Given the description of an element on the screen output the (x, y) to click on. 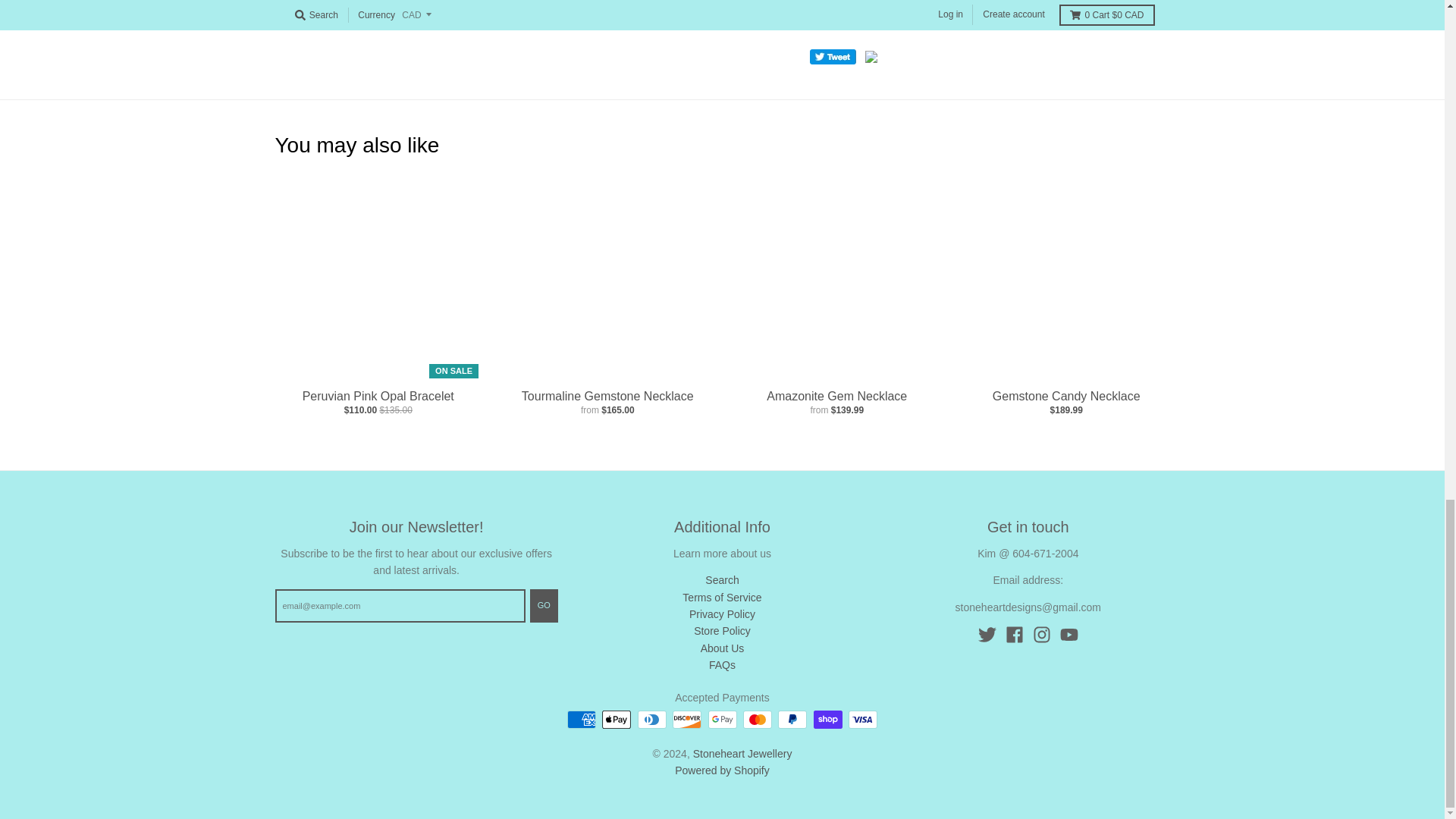
Instagram - Stoneheart Jewellery (1041, 634)
YouTube - Stoneheart Jewellery (1068, 634)
Twitter - Stoneheart Jewellery (986, 634)
Facebook - Stoneheart Jewellery (1014, 634)
